Given the description of an element on the screen output the (x, y) to click on. 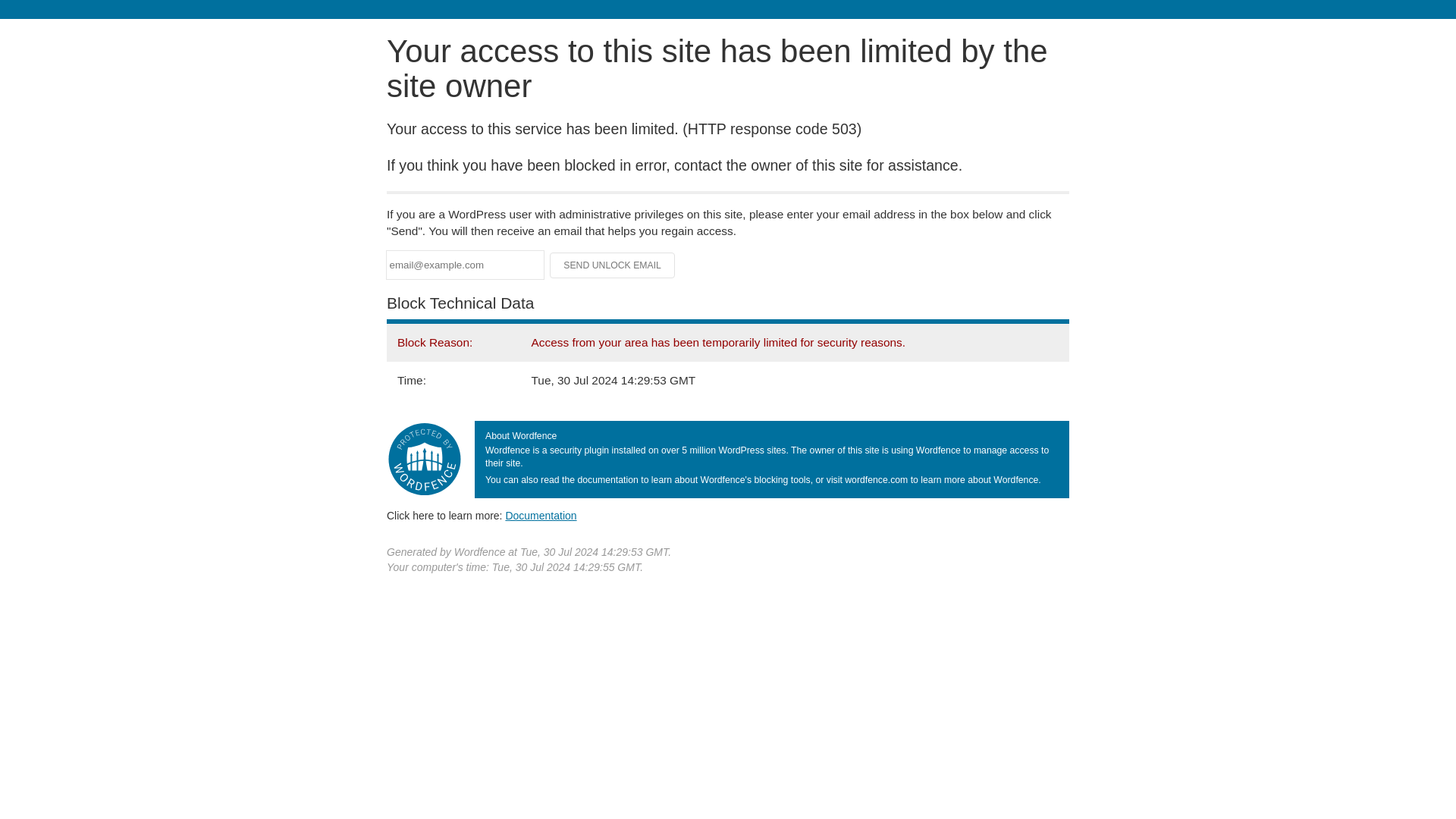
Send Unlock Email (612, 265)
Documentation (540, 515)
Send Unlock Email (612, 265)
